Given the description of an element on the screen output the (x, y) to click on. 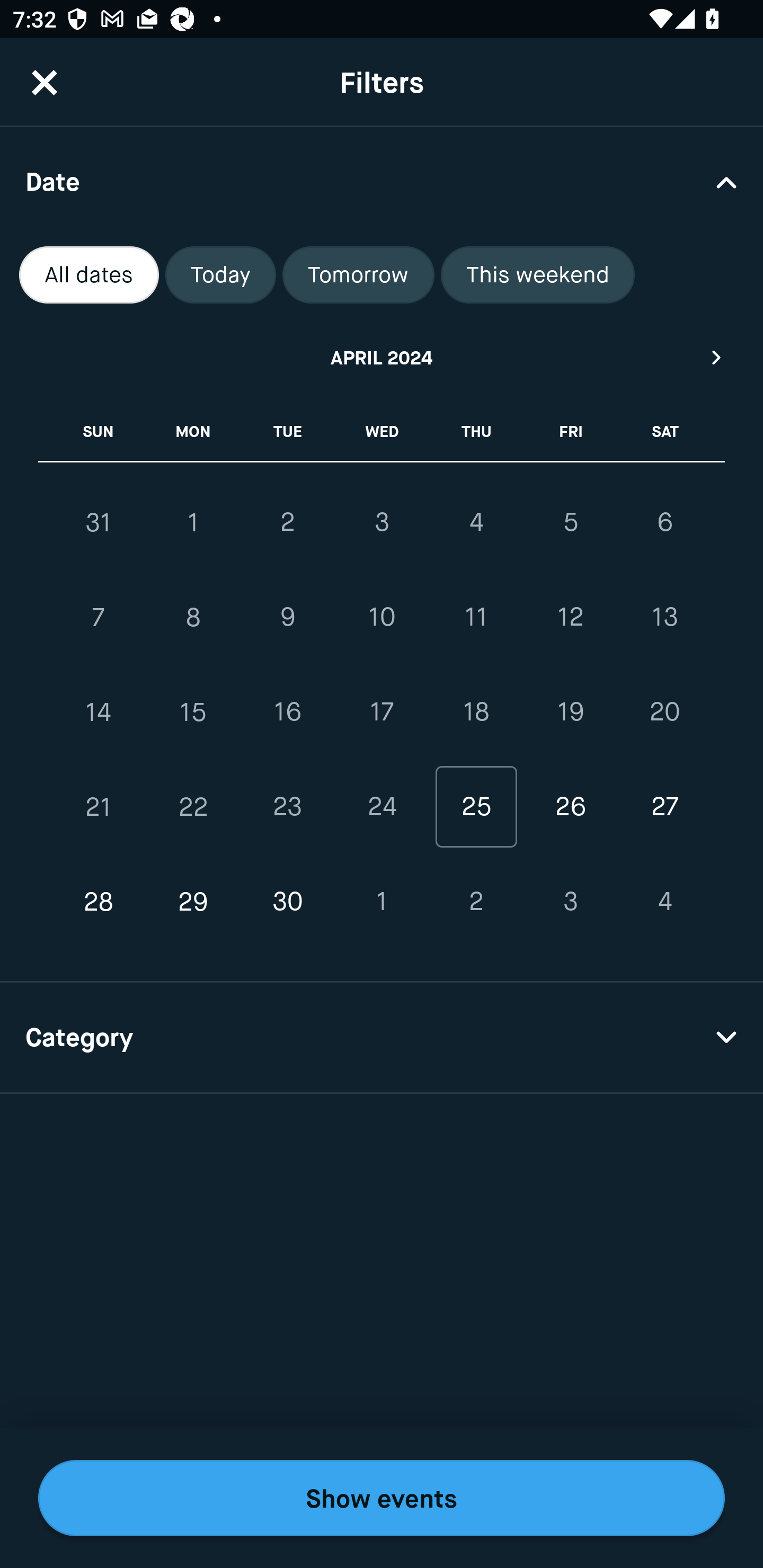
CloseButton (44, 82)
Date Drop Down Arrow (381, 181)
All dates (88, 274)
Today (220, 274)
Tomorrow (358, 274)
This weekend (537, 274)
Next (717, 357)
31 (98, 522)
1 (192, 522)
2 (287, 522)
3 (381, 522)
4 (475, 522)
5 (570, 522)
6 (664, 522)
7 (98, 617)
8 (192, 617)
9 (287, 617)
10 (381, 617)
11 (475, 617)
12 (570, 617)
13 (664, 617)
14 (98, 711)
15 (192, 711)
16 (287, 711)
17 (381, 711)
18 (475, 711)
19 (570, 711)
20 (664, 711)
21 (98, 806)
22 (192, 806)
23 (287, 806)
24 (381, 806)
25 (475, 806)
26 (570, 806)
27 (664, 806)
28 (98, 901)
29 (192, 901)
30 (287, 901)
1 (381, 901)
2 (475, 901)
3 (570, 901)
4 (664, 901)
Category Drop Down Arrow (381, 1038)
Show events (381, 1497)
